Given the description of an element on the screen output the (x, y) to click on. 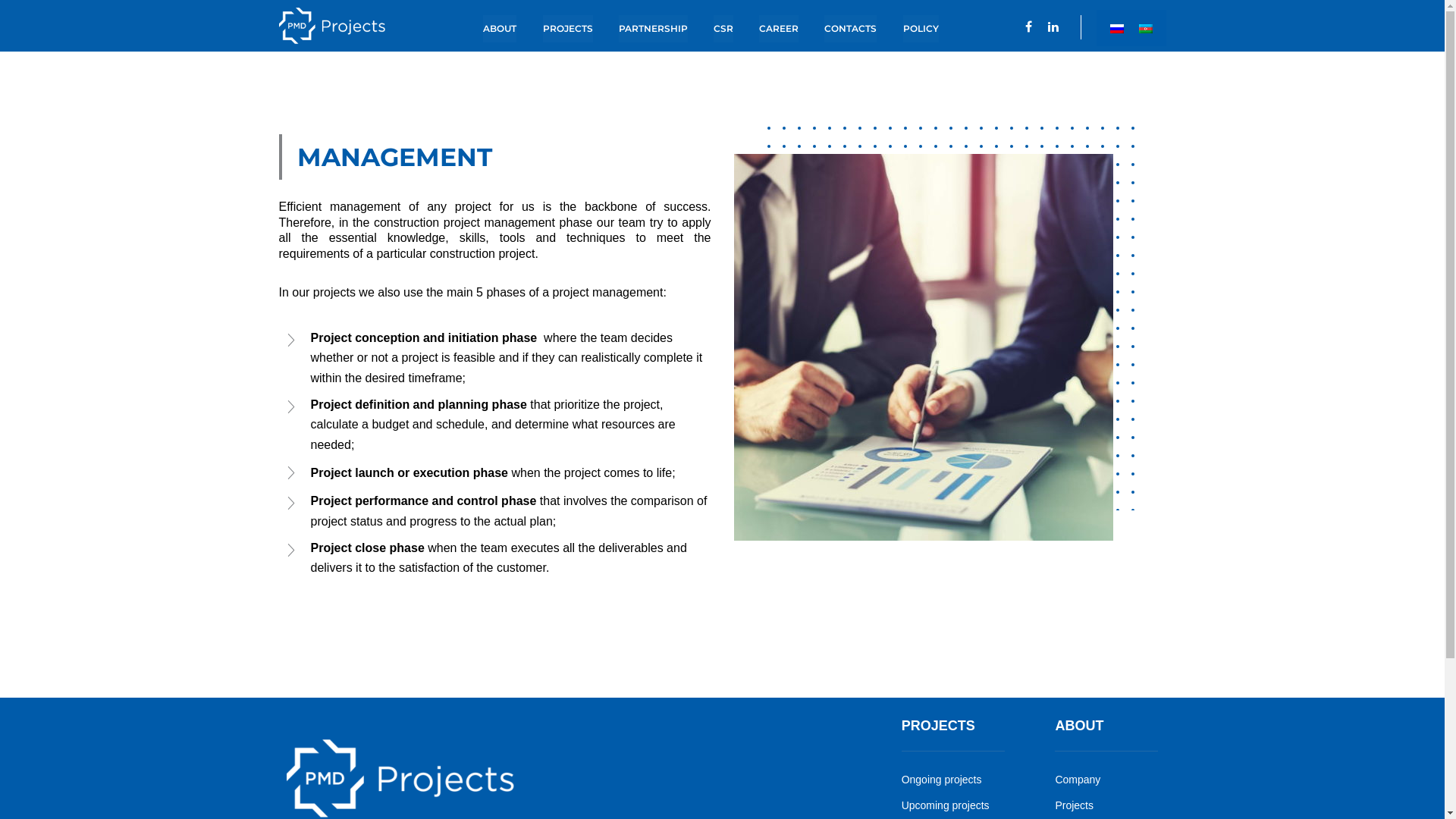
Ongoing projects Element type: text (941, 779)
PARTNERSHIP Element type: text (652, 28)
CONTACTS Element type: text (850, 28)
Upcoming projects Element type: text (945, 805)
Facebook Element type: hover (1028, 27)
Projects Element type: text (1073, 805)
CAREER Element type: text (778, 28)
ABOUT Element type: text (499, 28)
Linkedin Element type: hover (1052, 27)
CSR Element type: text (723, 28)
Company Element type: text (1077, 779)
manage Element type: hover (923, 346)
POLICY Element type: text (920, 28)
PROJECTS Element type: text (567, 28)
Azerbaijan dili Element type: hover (1145, 28)
